Given the description of an element on the screen output the (x, y) to click on. 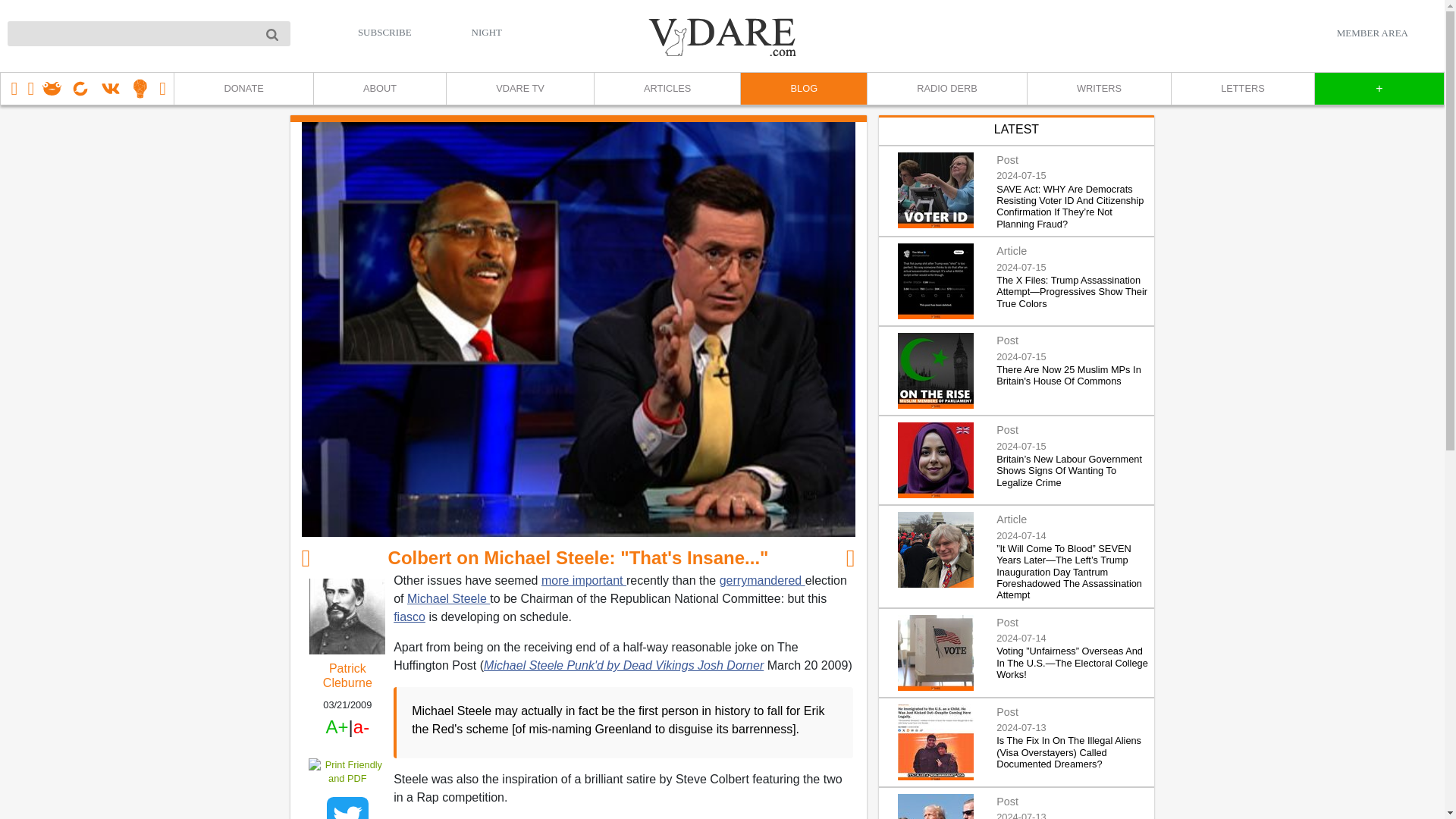
Printer Friendly and PDF (347, 770)
VDARE TV (519, 88)
Share to Twitter (347, 807)
WRITERS (1098, 88)
DONATE (243, 88)
MEMBER AREA (1371, 32)
BLOG (802, 88)
LETTERS (1242, 88)
ABOUT (379, 88)
ARTICLES (666, 88)
RADIO DERB (946, 88)
SUBSCRIBE (385, 31)
